Given the description of an element on the screen output the (x, y) to click on. 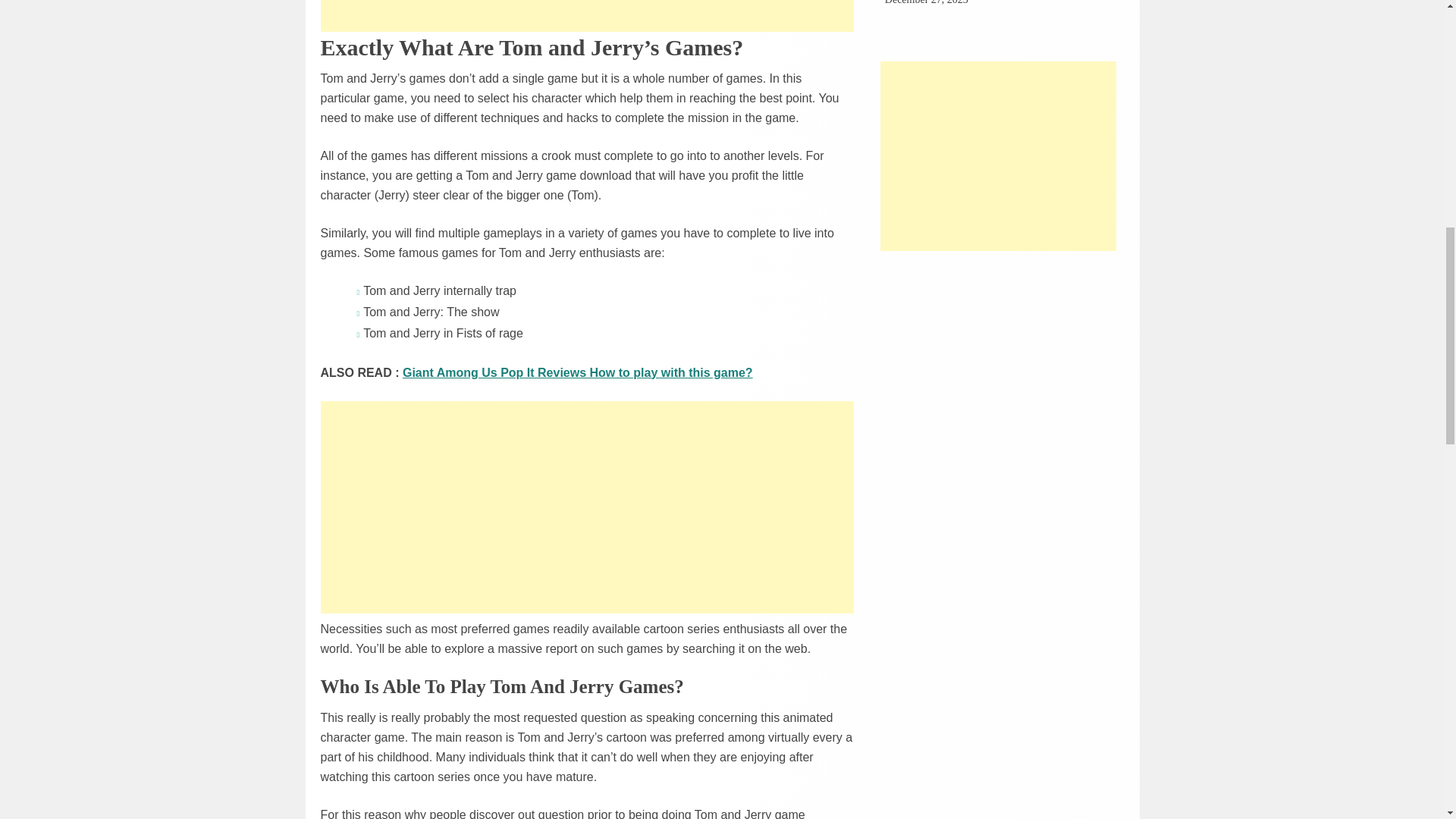
Giant Among Us Pop It Reviews How to play with this game? (577, 371)
Advertisement (998, 155)
Advertisement (586, 506)
Advertisement (586, 15)
